Given the description of an element on the screen output the (x, y) to click on. 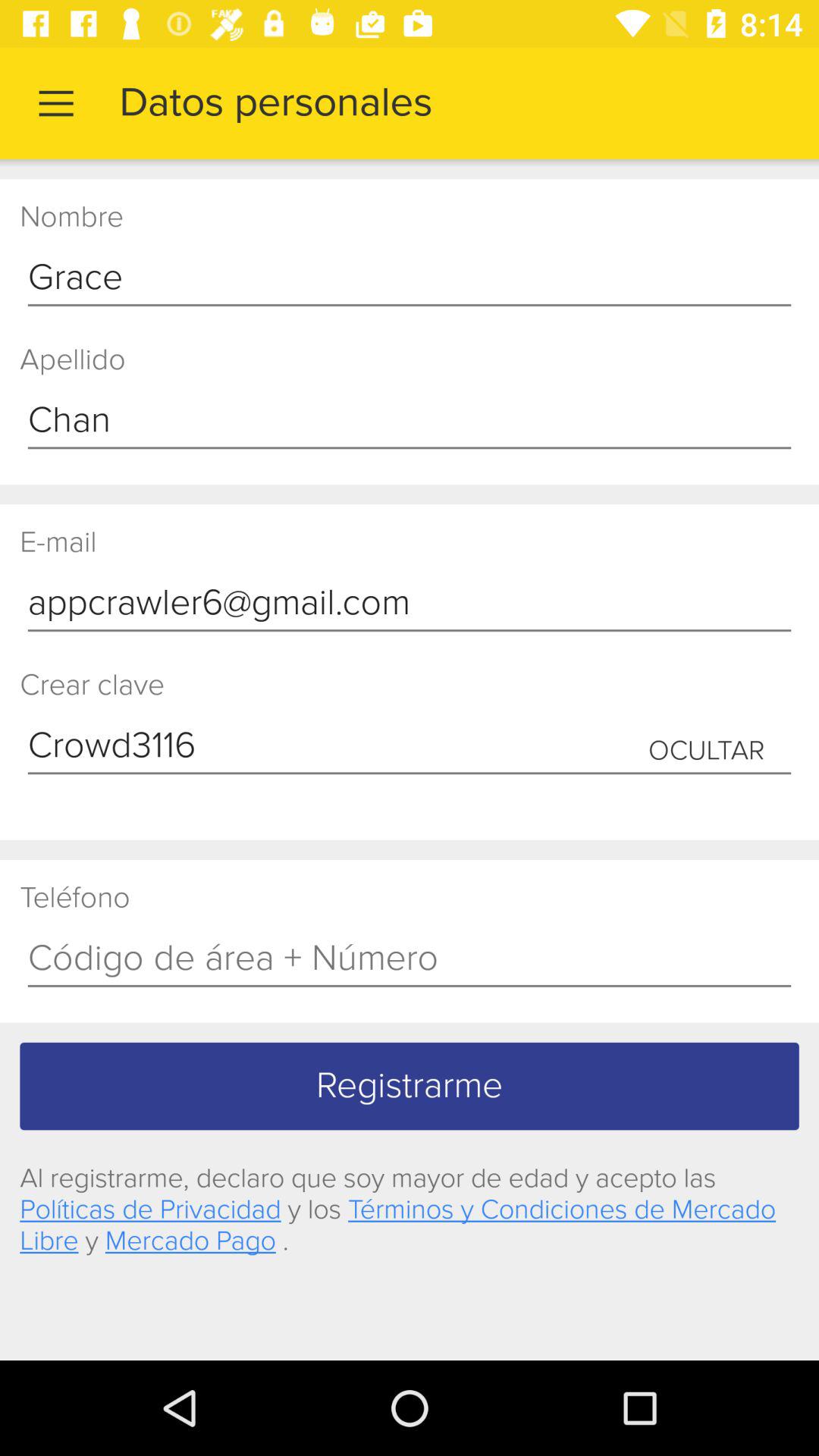
choose the icon below the nombre (409, 278)
